Given the description of an element on the screen output the (x, y) to click on. 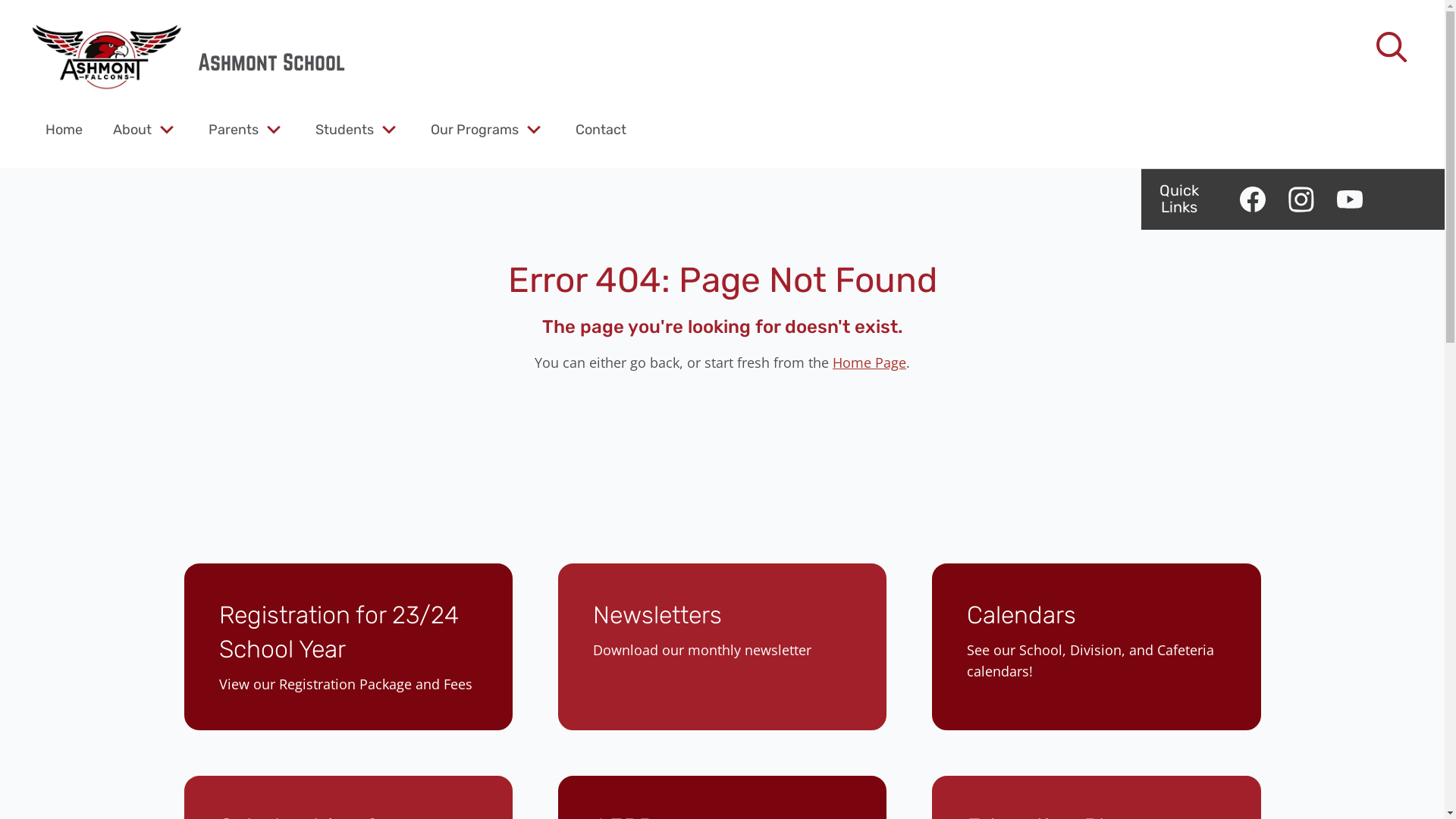
Our Programs Element type: text (474, 129)
Search Element type: text (45, 19)
Contact Element type: text (600, 129)
Students Element type: text (344, 129)
Calendars
See our School, Division, and Cafeteria calendars! Element type: text (1095, 646)
Ashmont School's Instagram Element type: hover (1301, 199)
Parents Element type: text (233, 129)
home Element type: hover (106, 56)
Newsletters
Download our monthly newsletter Element type: text (722, 646)
Home Element type: text (63, 129)
Home Page Element type: text (869, 362)
Quick Links Element type: text (1179, 198)
Ashmont School's YouTube Element type: hover (1349, 199)
About Element type: text (131, 129)
Ashmont School's Facebook Element type: hover (1252, 199)
